Given the description of an element on the screen output the (x, y) to click on. 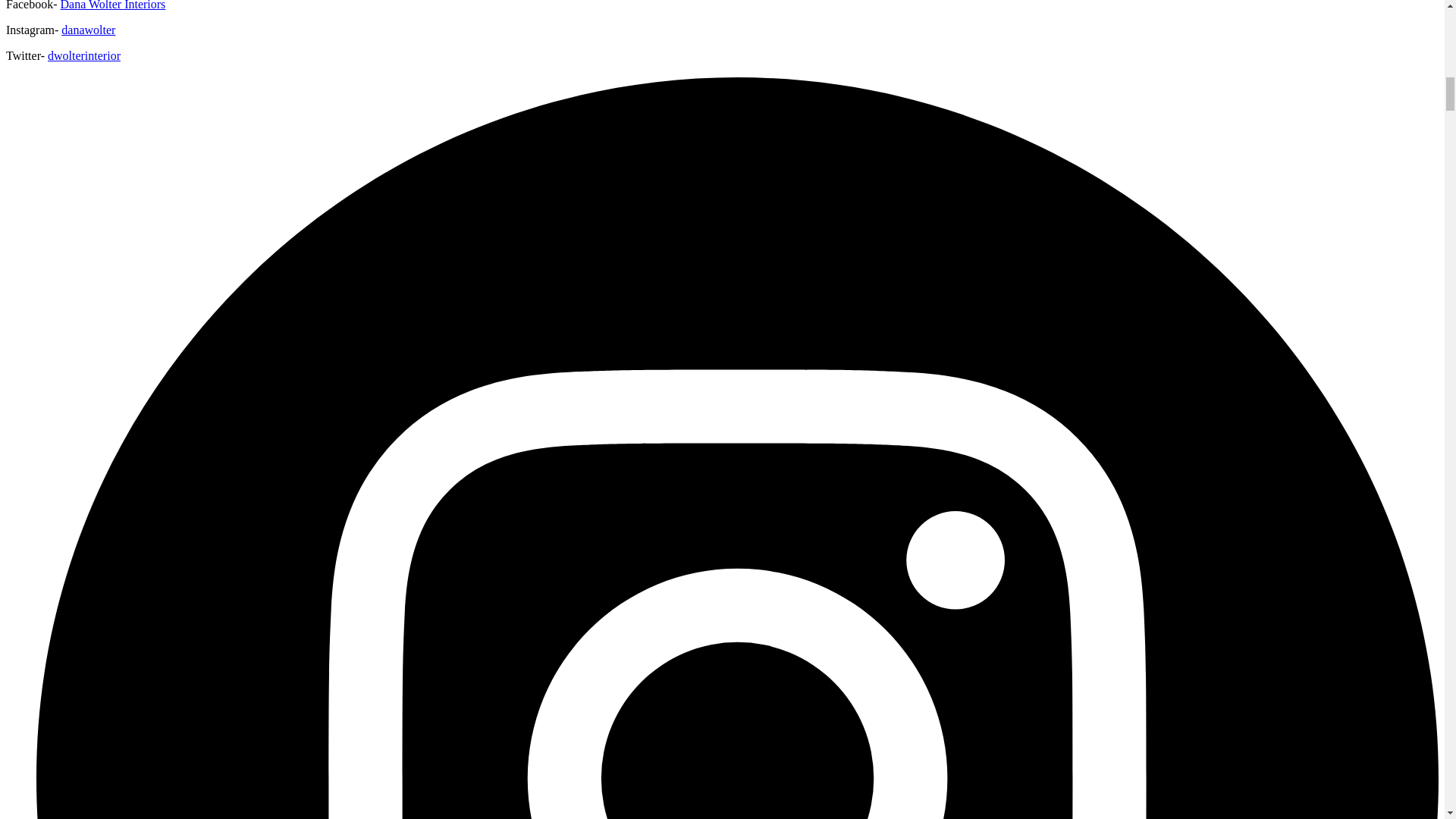
Dana Wolter Interiors (113, 5)
dwolterinterior (84, 55)
danawolter (88, 29)
